Given the description of an element on the screen output the (x, y) to click on. 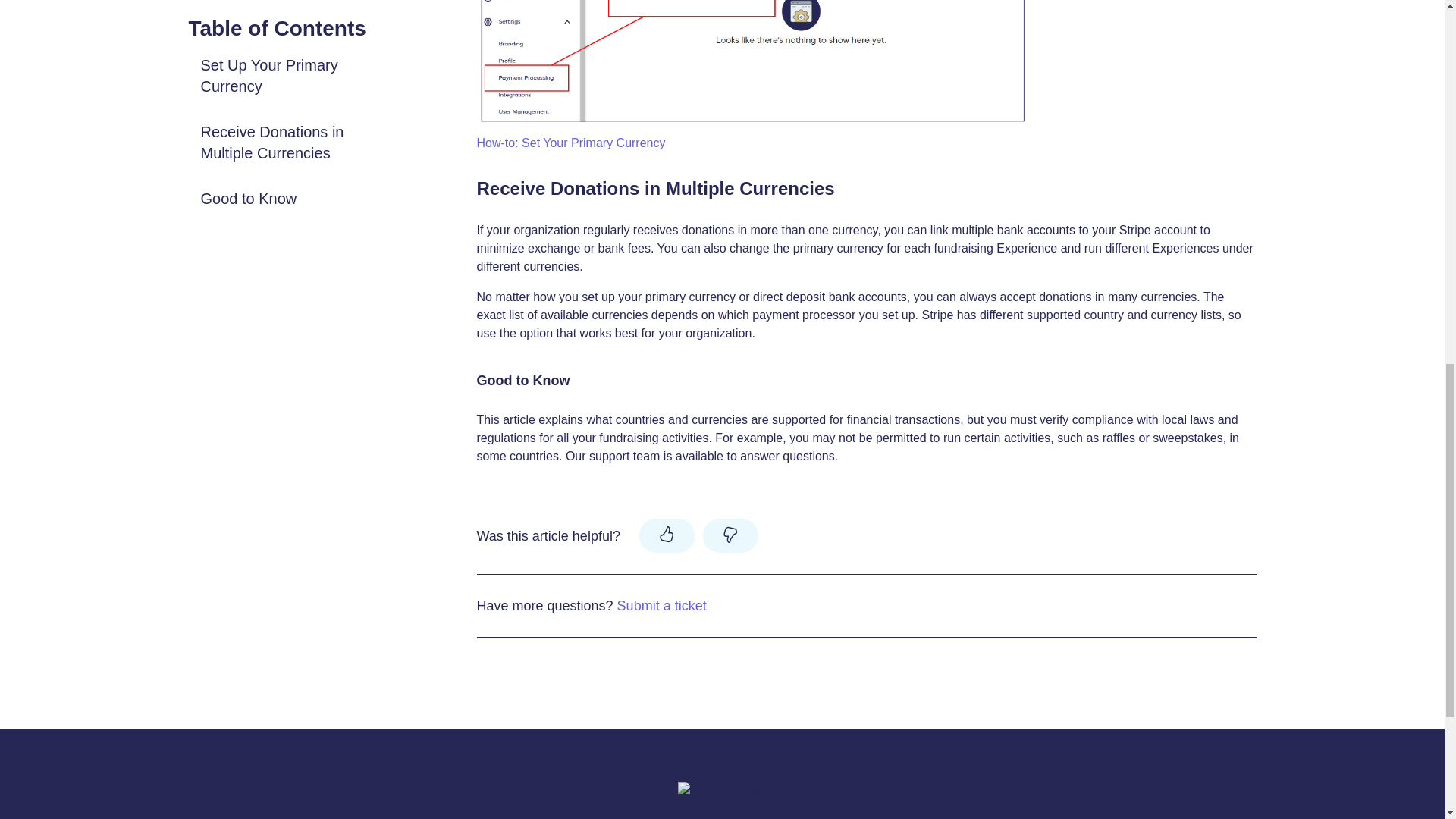
How-to: Set Your Primary Currency (570, 142)
Blog (699, 817)
Submit a ticket (661, 605)
Case Studies (642, 817)
Contact Us (806, 817)
About Us (745, 817)
